Given the description of an element on the screen output the (x, y) to click on. 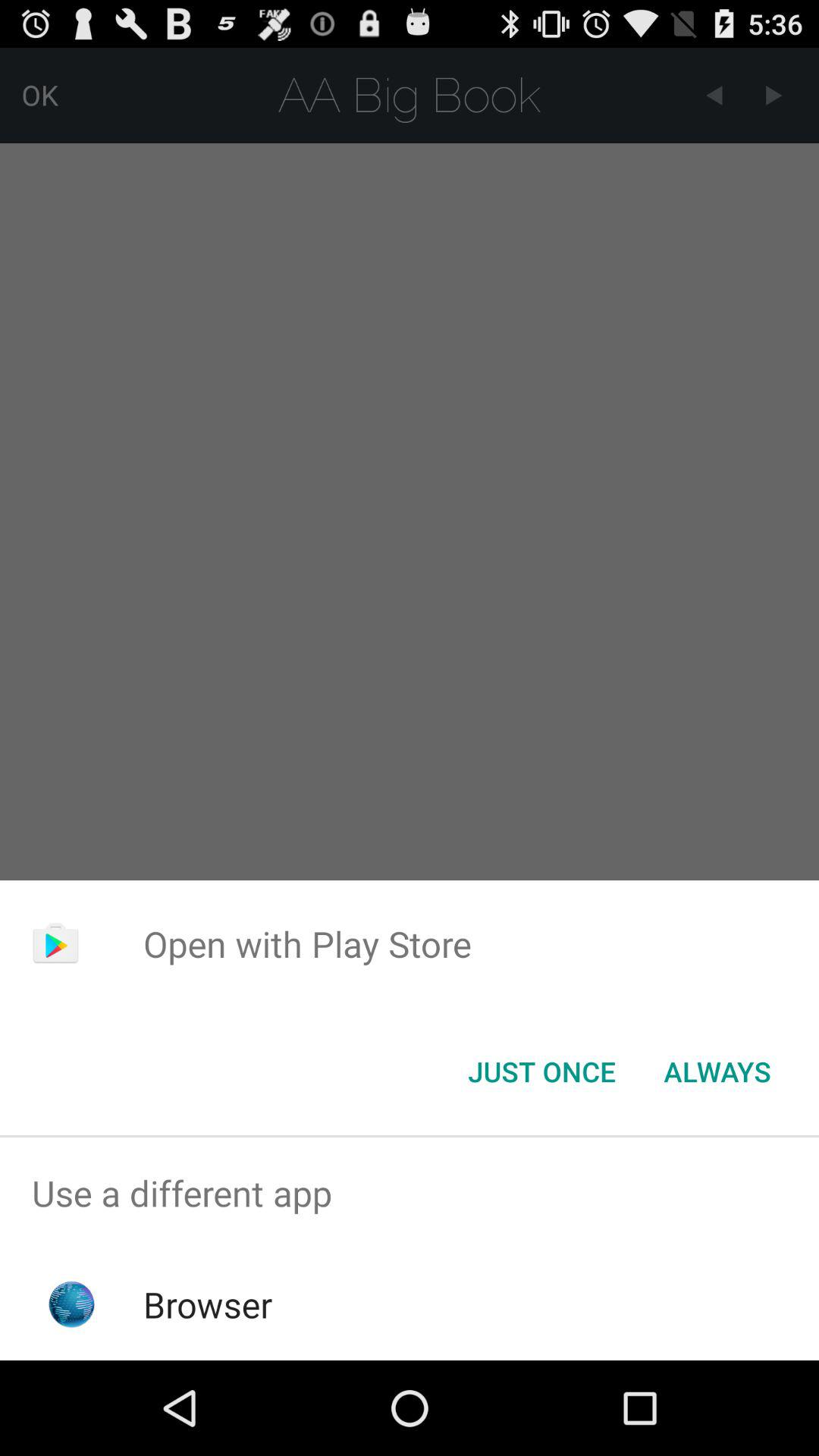
turn off button to the right of the just once button (717, 1071)
